Given the description of an element on the screen output the (x, y) to click on. 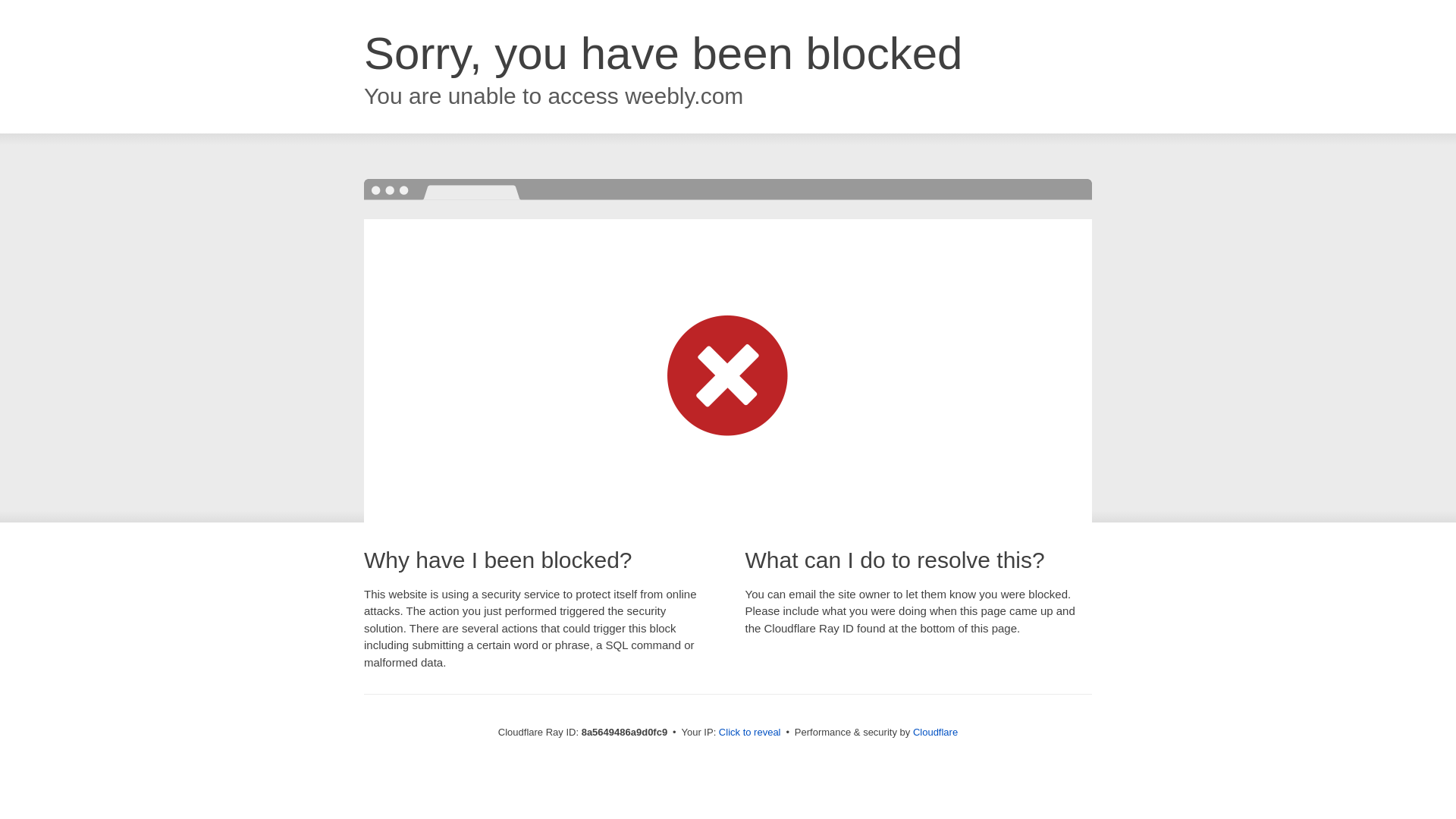
Click to reveal (749, 732)
Cloudflare (935, 731)
